Given the description of an element on the screen output the (x, y) to click on. 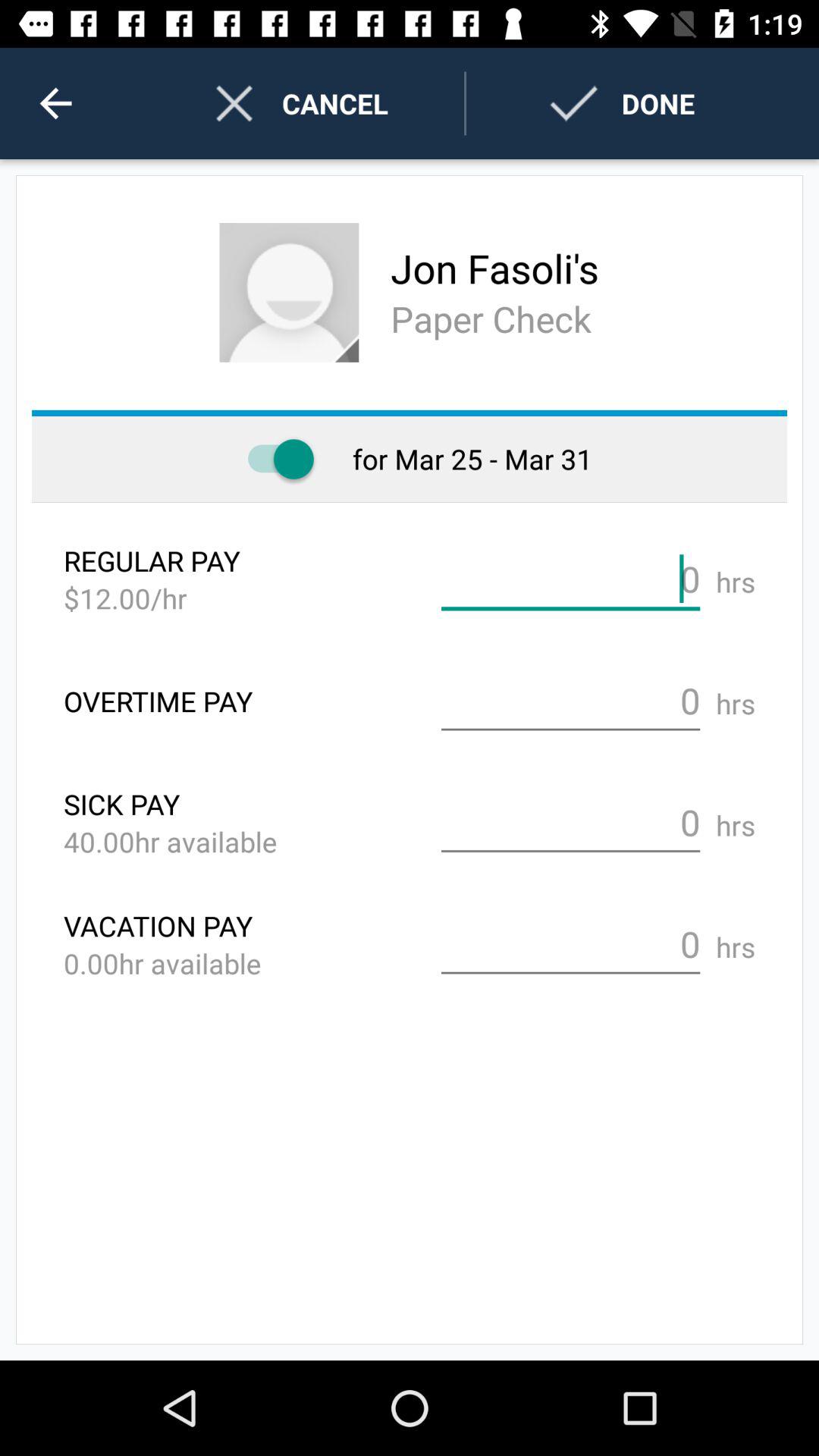
enter sick pay hours (570, 822)
